Given the description of an element on the screen output the (x, y) to click on. 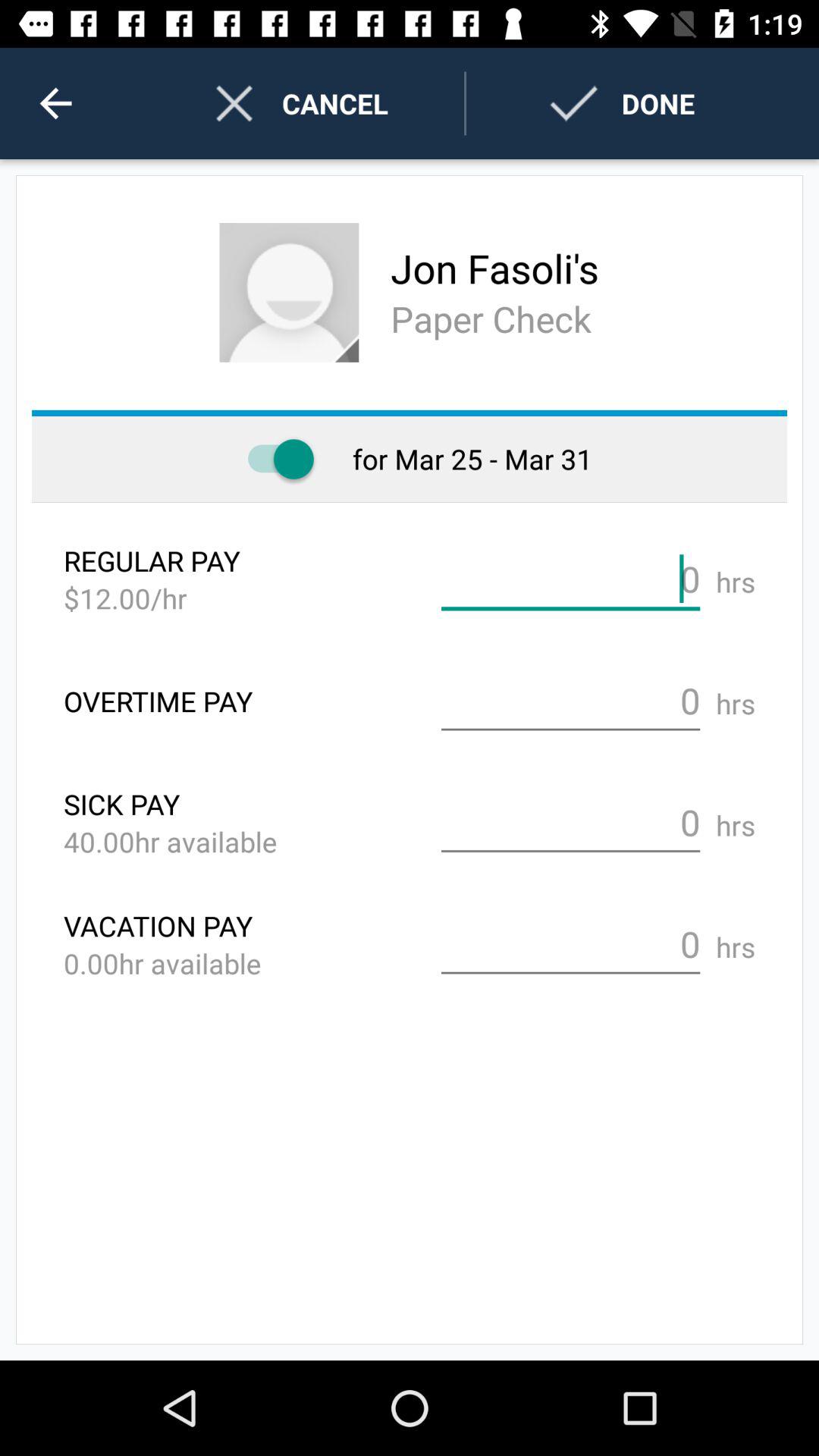
enter sick pay hours (570, 822)
